Given the description of an element on the screen output the (x, y) to click on. 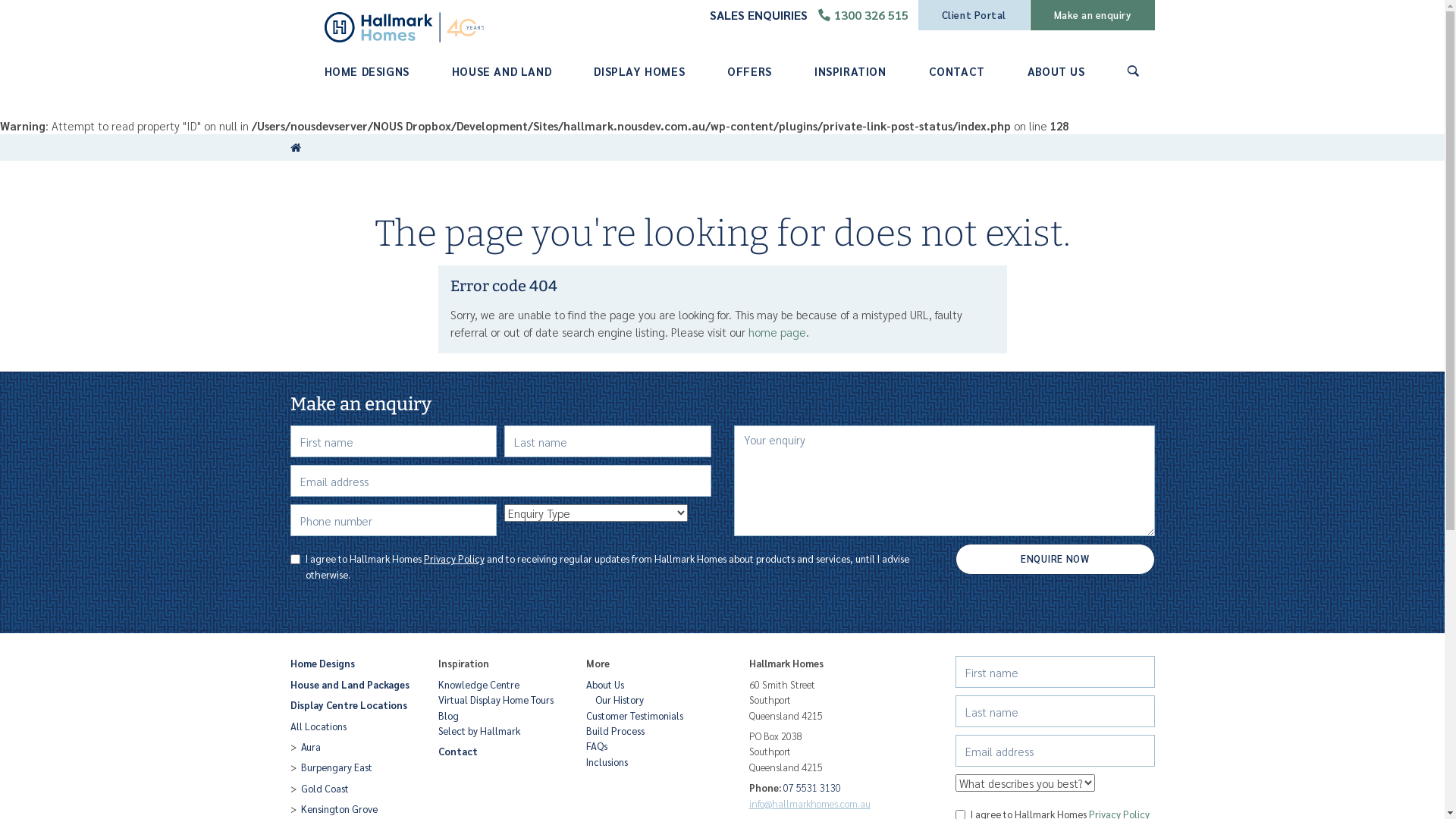
info@hallmarkhomes.com.au Element type: text (809, 803)
All Locations Element type: text (351, 726)
home page Element type: text (776, 331)
Client Portal Element type: text (973, 15)
Build Process Element type: text (647, 730)
DISPLAY HOMES Element type: text (639, 70)
Inclusions Element type: text (647, 761)
About Us Element type: text (647, 684)
Privacy Policy Element type: text (453, 558)
OFFERS Element type: text (749, 70)
FAQs Element type: text (647, 745)
Kensington Grove Element type: text (351, 808)
Our History Element type: text (647, 699)
Display Centre Locations Element type: text (351, 704)
07 5531 3130 Element type: text (811, 787)
Customer Testimonials Element type: text (647, 715)
House and Land Packages Element type: text (351, 684)
Blog Element type: text (500, 715)
Gold Coast Element type: text (351, 788)
HOUSE AND LAND Element type: text (501, 70)
CONTACT Element type: text (956, 70)
Burpengary East Element type: text (351, 767)
Virtual Display Home Tours Element type: text (500, 699)
ENQUIRE NOW Element type: text (1054, 558)
Select by Hallmark Element type: text (500, 730)
Make an enquiry Element type: text (1092, 15)
Contact Element type: text (500, 751)
Home Designs Element type: text (351, 663)
HOME DESIGNS Element type: text (366, 70)
Aura Element type: text (351, 746)
INSPIRATION Element type: text (850, 70)
ABOUT US Element type: text (1055, 70)
Knowledge Centre Element type: text (500, 684)
